Given the description of an element on the screen output the (x, y) to click on. 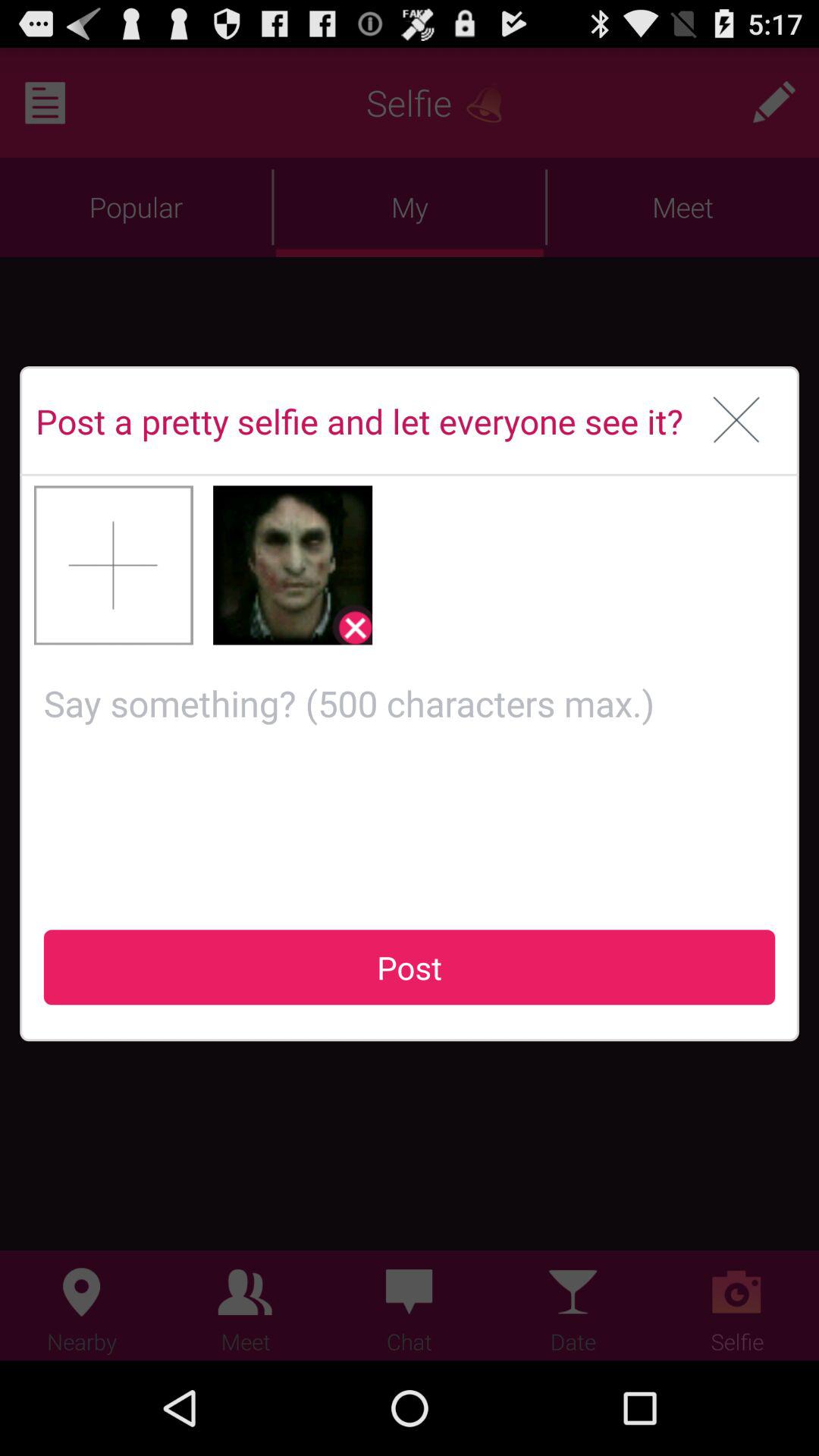
turn on the item at the top right corner (736, 421)
